Given the description of an element on the screen output the (x, y) to click on. 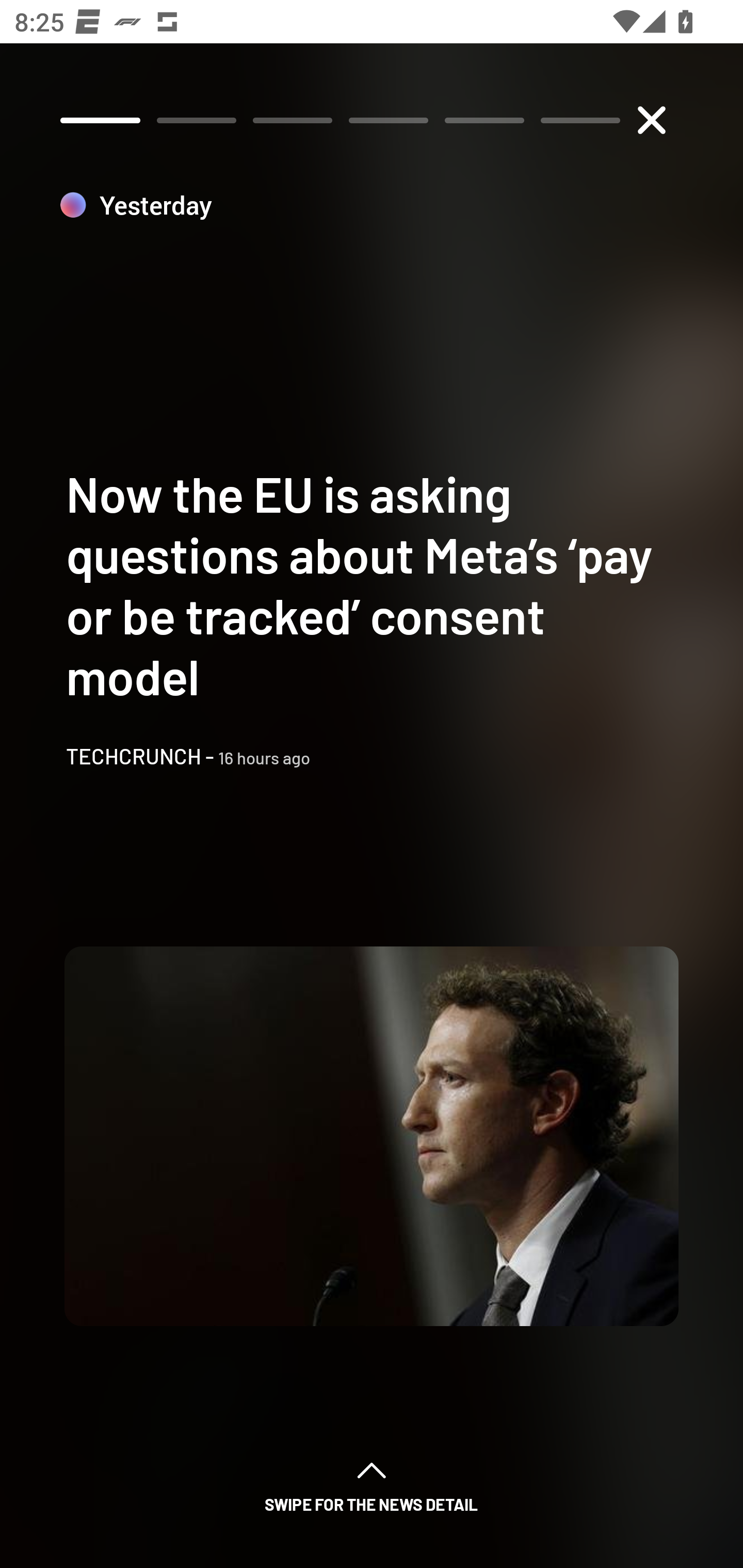
Close Highlights (651, 119)
